Given the description of an element on the screen output the (x, y) to click on. 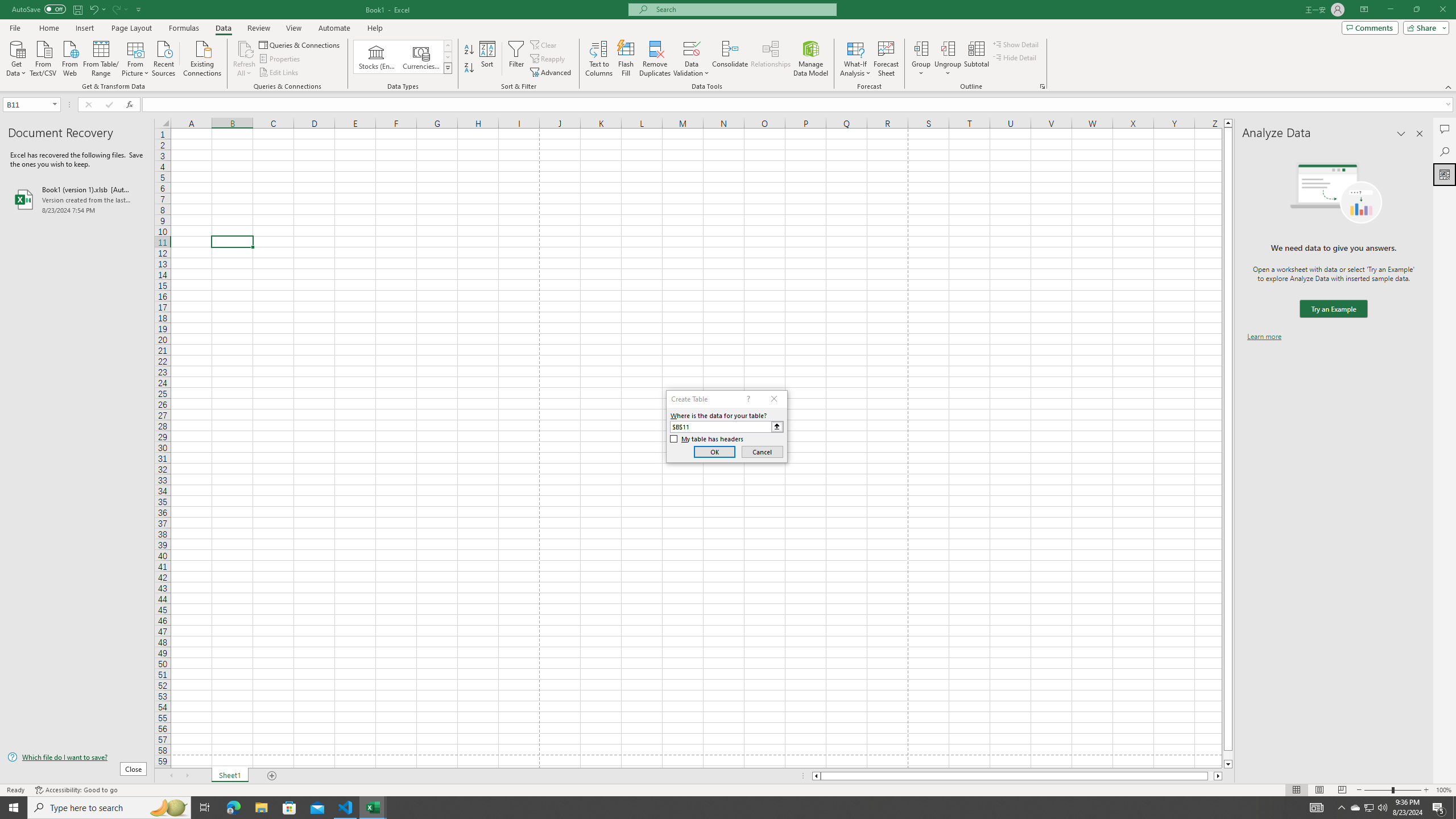
Subtotal (976, 58)
Remove Duplicates (654, 58)
Queries & Connections (300, 44)
Learn more (1264, 336)
Get Data (16, 57)
